Given the description of an element on the screen output the (x, y) to click on. 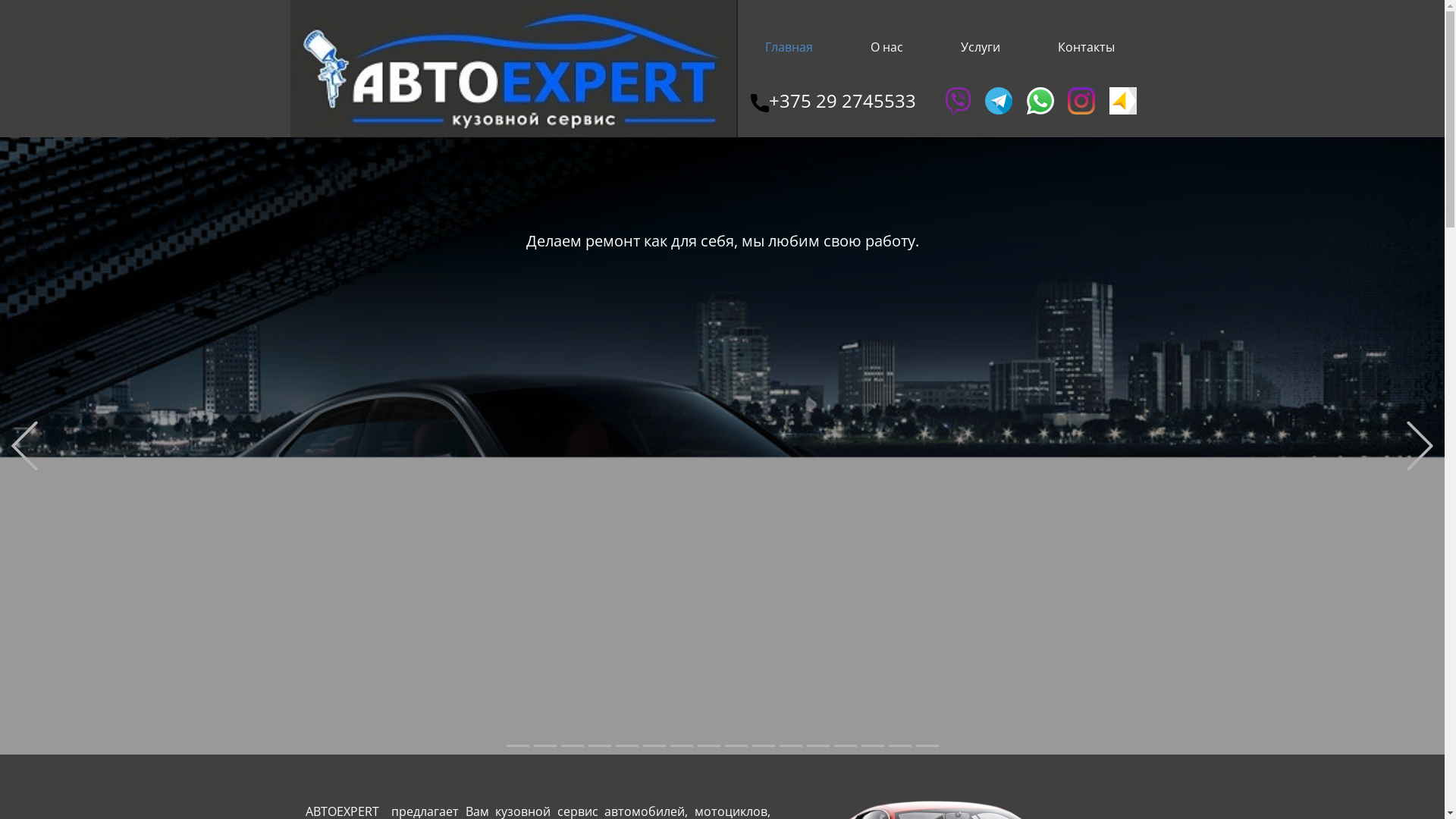
+375 29 2745533 Element type: text (833, 101)
Next Element type: text (1419, 445)
Previous Element type: text (24, 445)
